Given the description of an element on the screen output the (x, y) to click on. 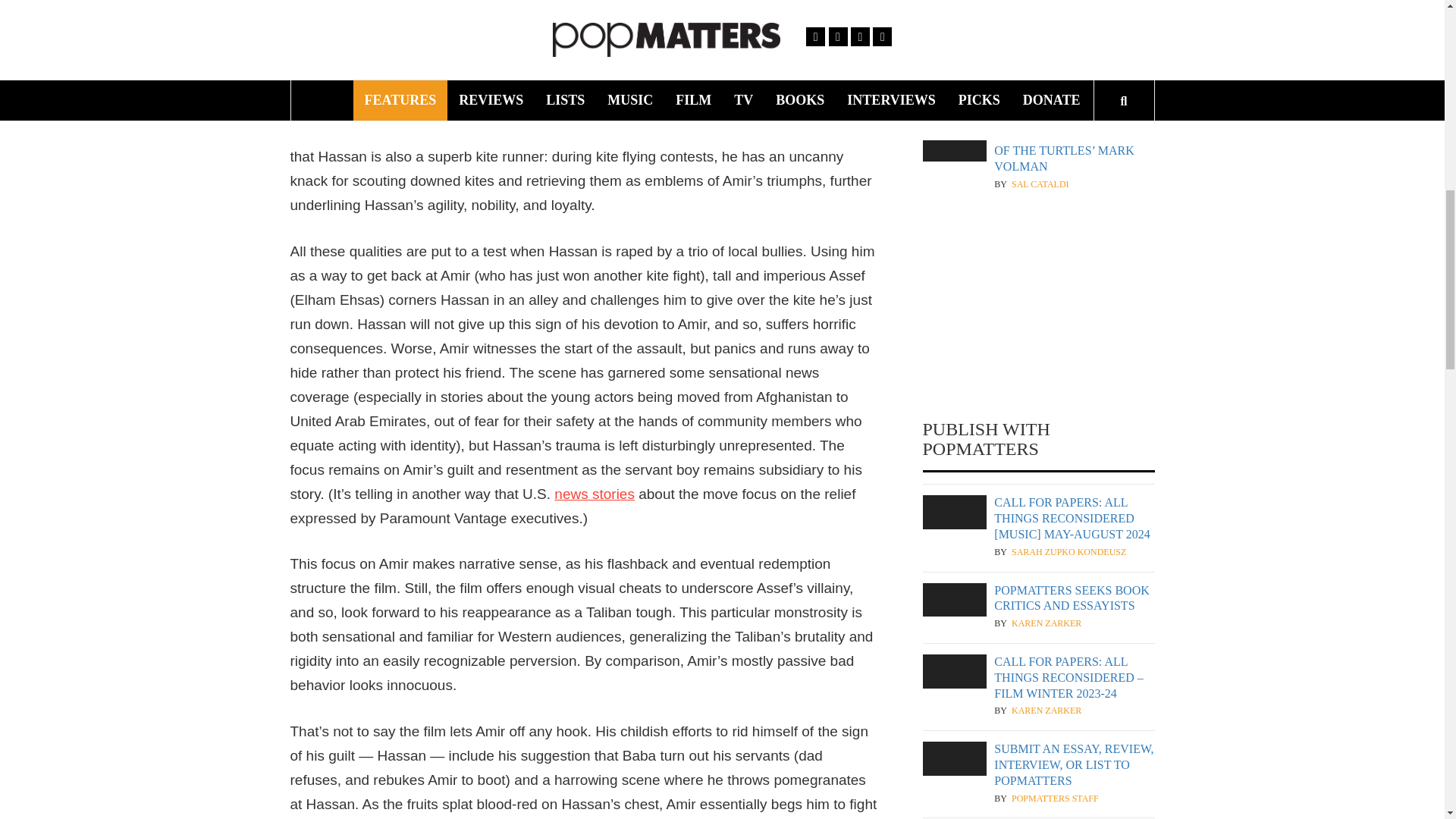
Sal Cataldi (1039, 184)
Sarah Zupko Kondeusz (1068, 552)
Karen Zarker (1046, 623)
Kurt Wildermuth (1055, 96)
news stories (594, 494)
Karen Zarker (1046, 710)
Joshua M. Miller (1052, 9)
PopMatters Staff (1055, 798)
